Given the description of an element on the screen output the (x, y) to click on. 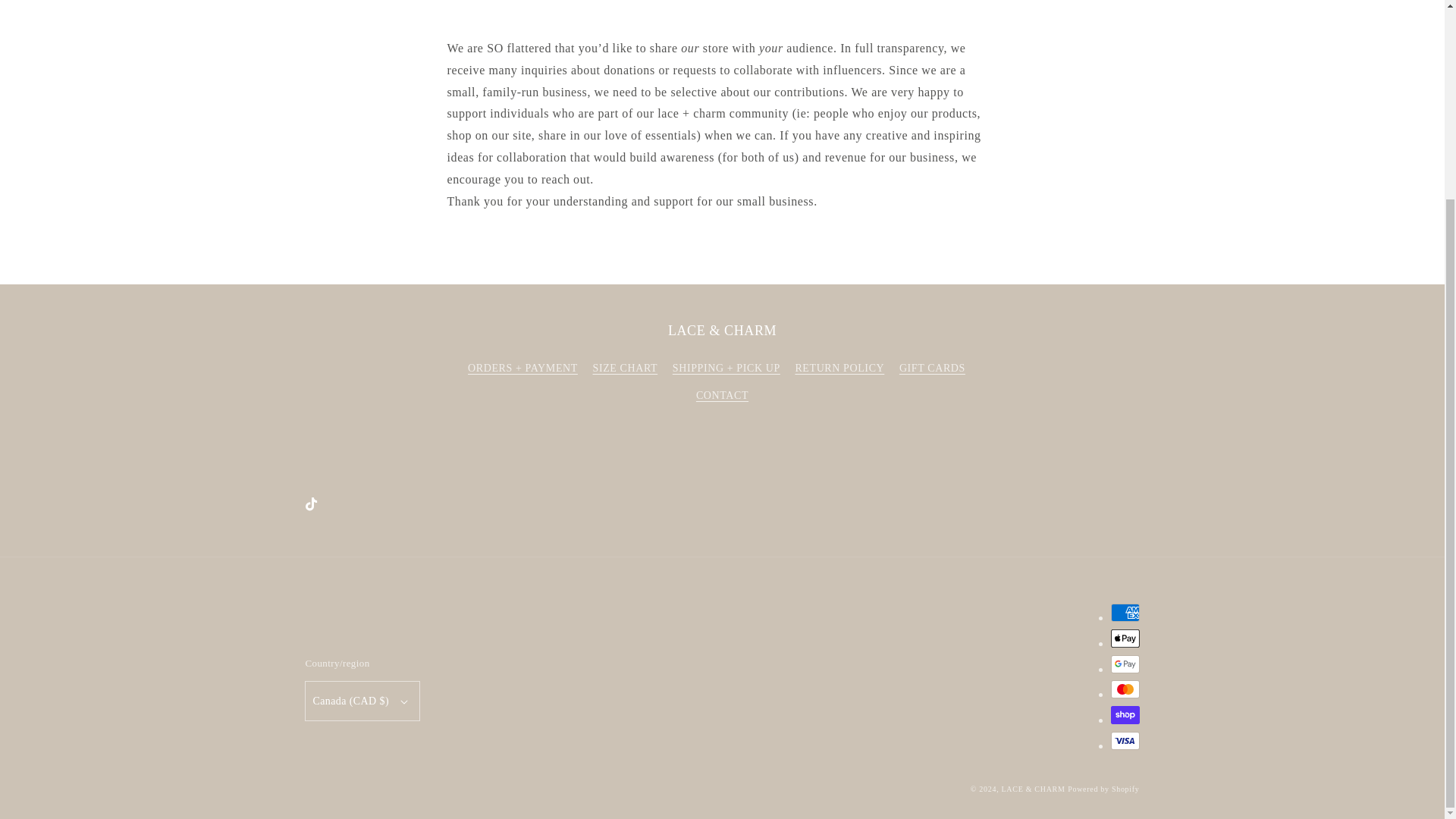
Google Pay (1123, 664)
Apple Pay (1123, 638)
Shop Pay (1123, 714)
Visa (1123, 741)
Mastercard (1123, 689)
American Express (1123, 612)
